Given the description of an element on the screen output the (x, y) to click on. 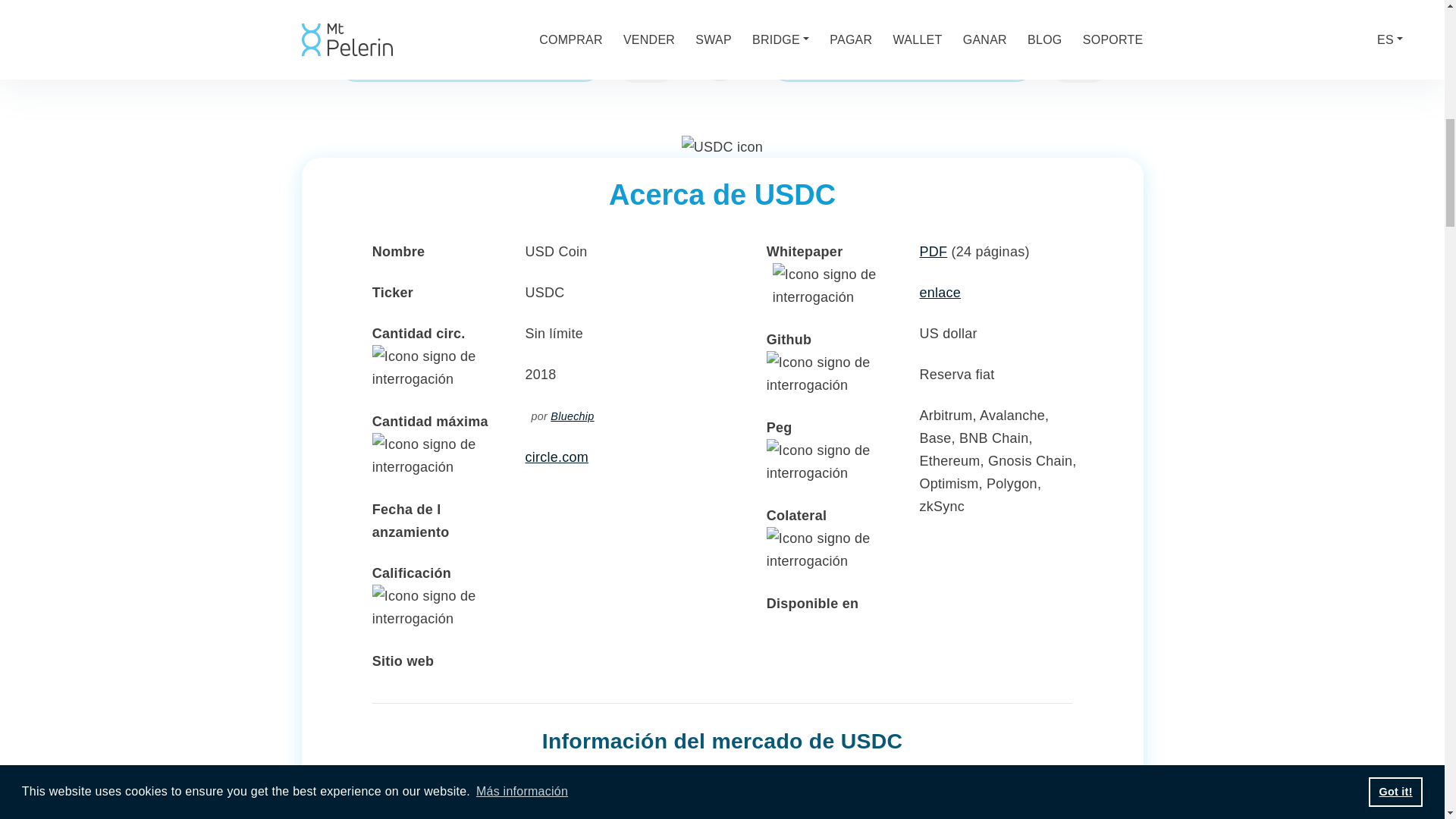
1 (469, 61)
1 (902, 61)
